Given the description of an element on the screen output the (x, y) to click on. 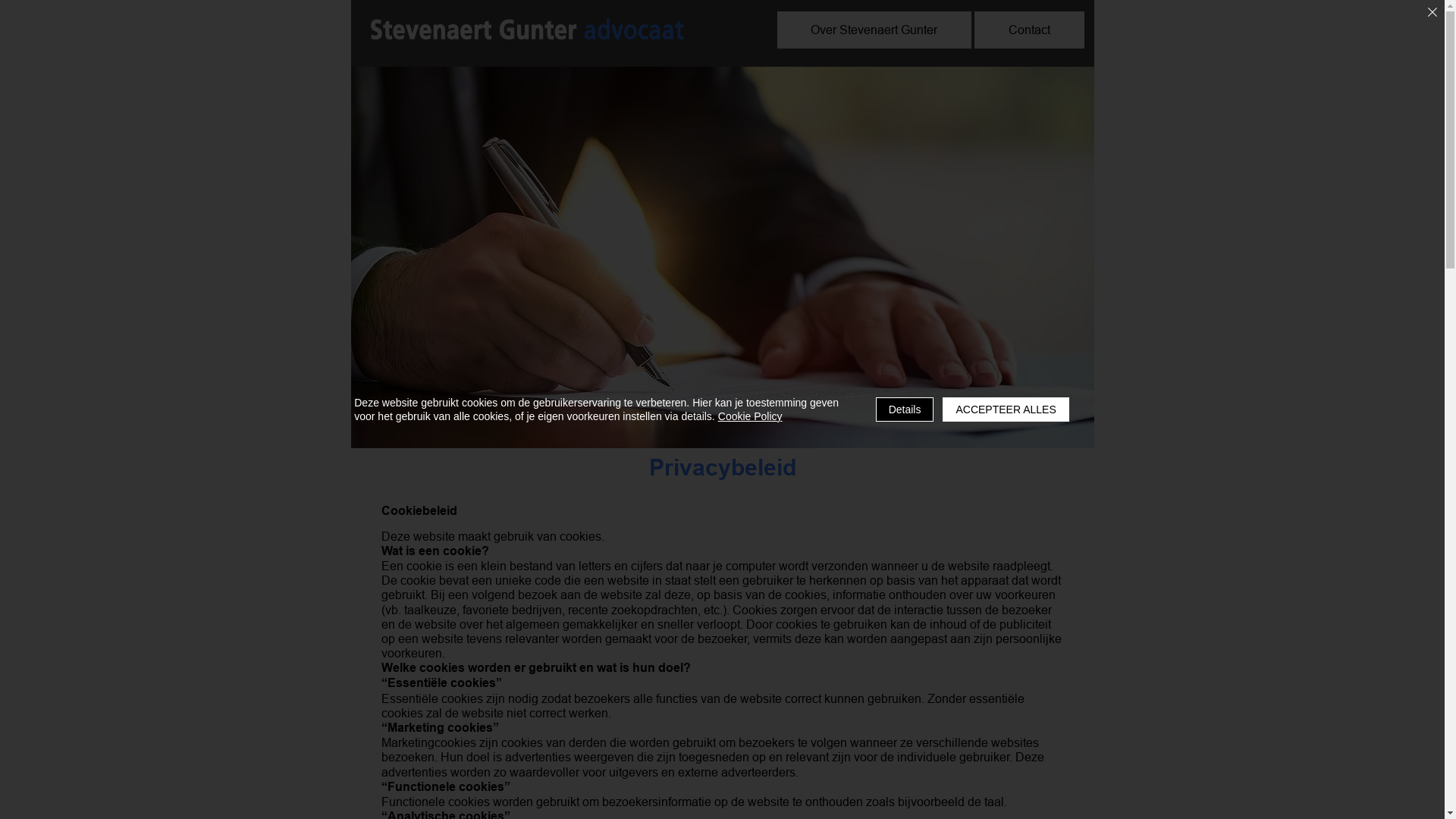
ACCEPTEER ALLES Element type: text (1005, 409)
Details Element type: text (904, 409)
Contact Element type: text (1029, 29)
Over Stevenaert Gunter Element type: text (873, 29)
Cookie Policy Element type: text (750, 416)
